Given the description of an element on the screen output the (x, y) to click on. 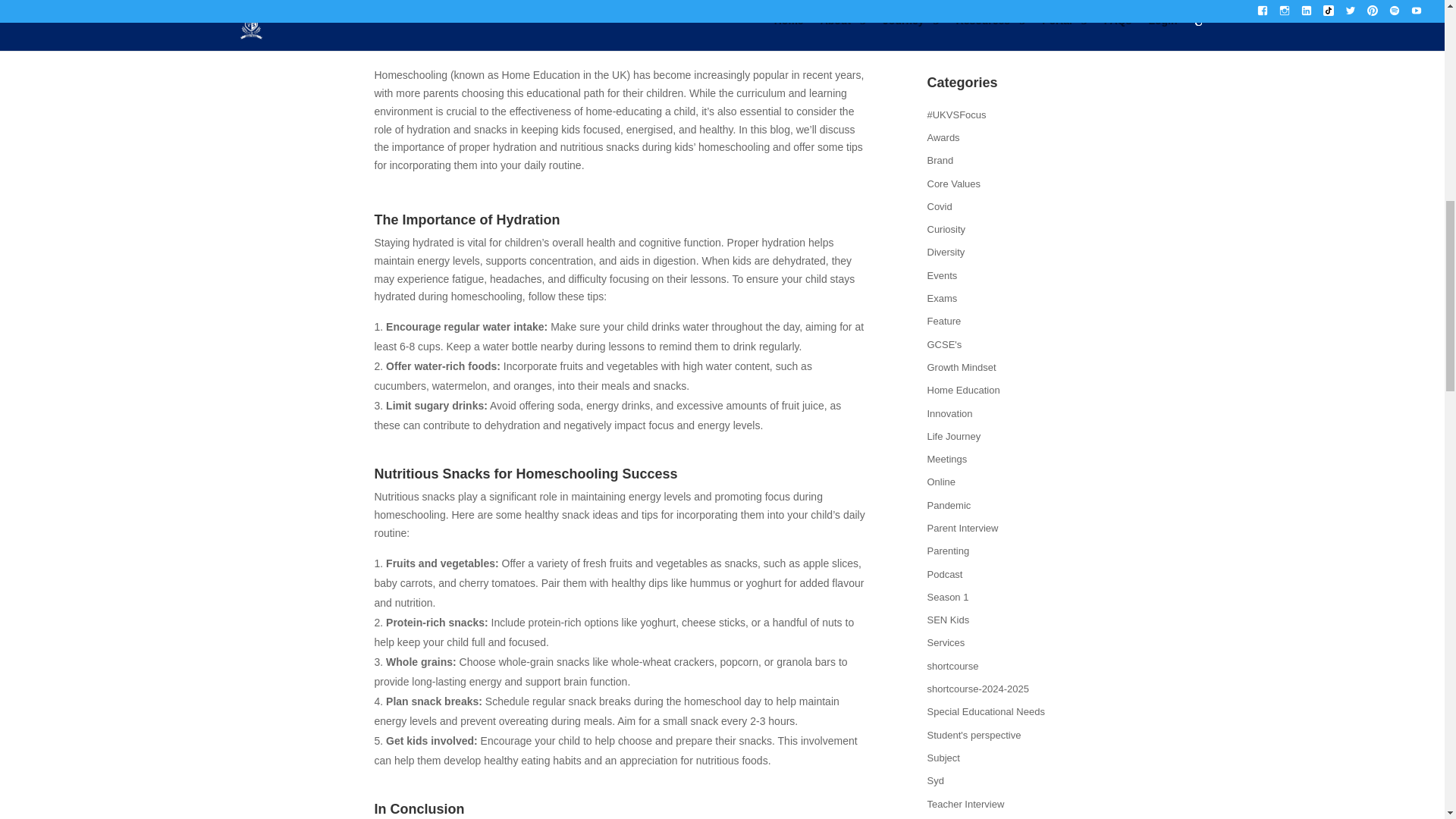
Posts by UK Virtual School (429, 28)
